Given the description of an element on the screen output the (x, y) to click on. 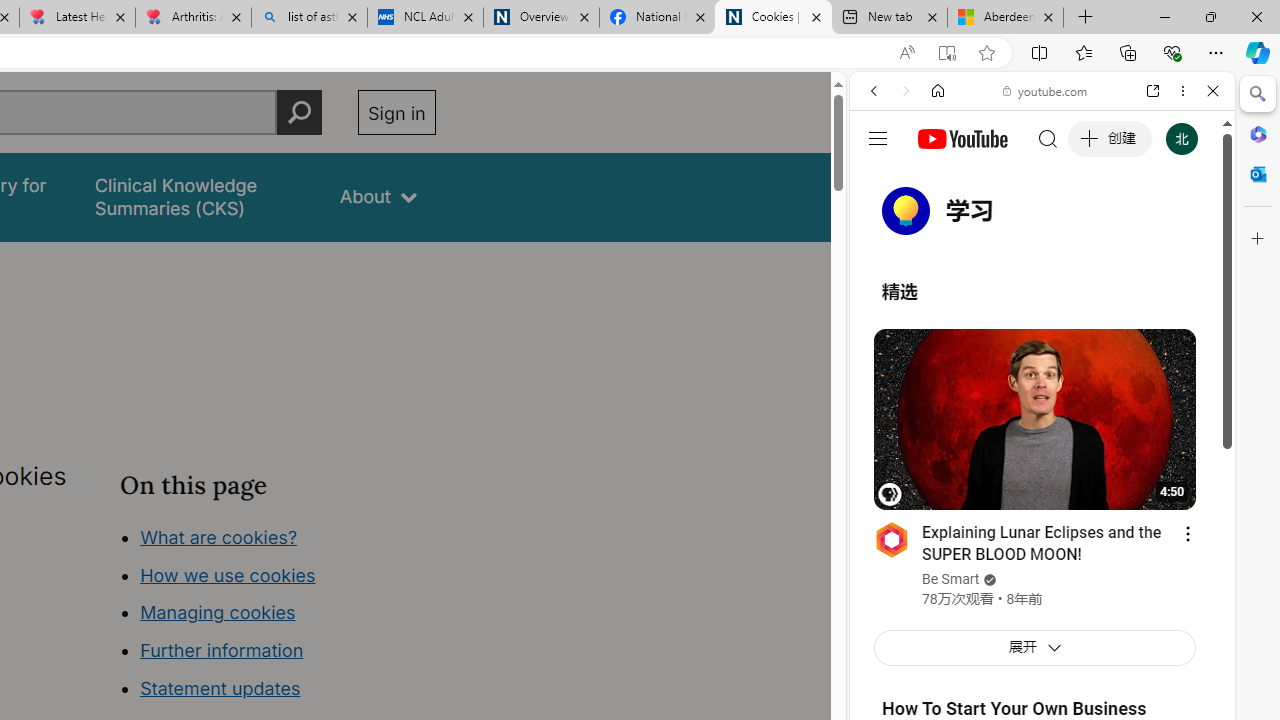
How we use cookies (227, 574)
What are cookies? (218, 536)
Perform search (299, 112)
